Given the description of an element on the screen output the (x, y) to click on. 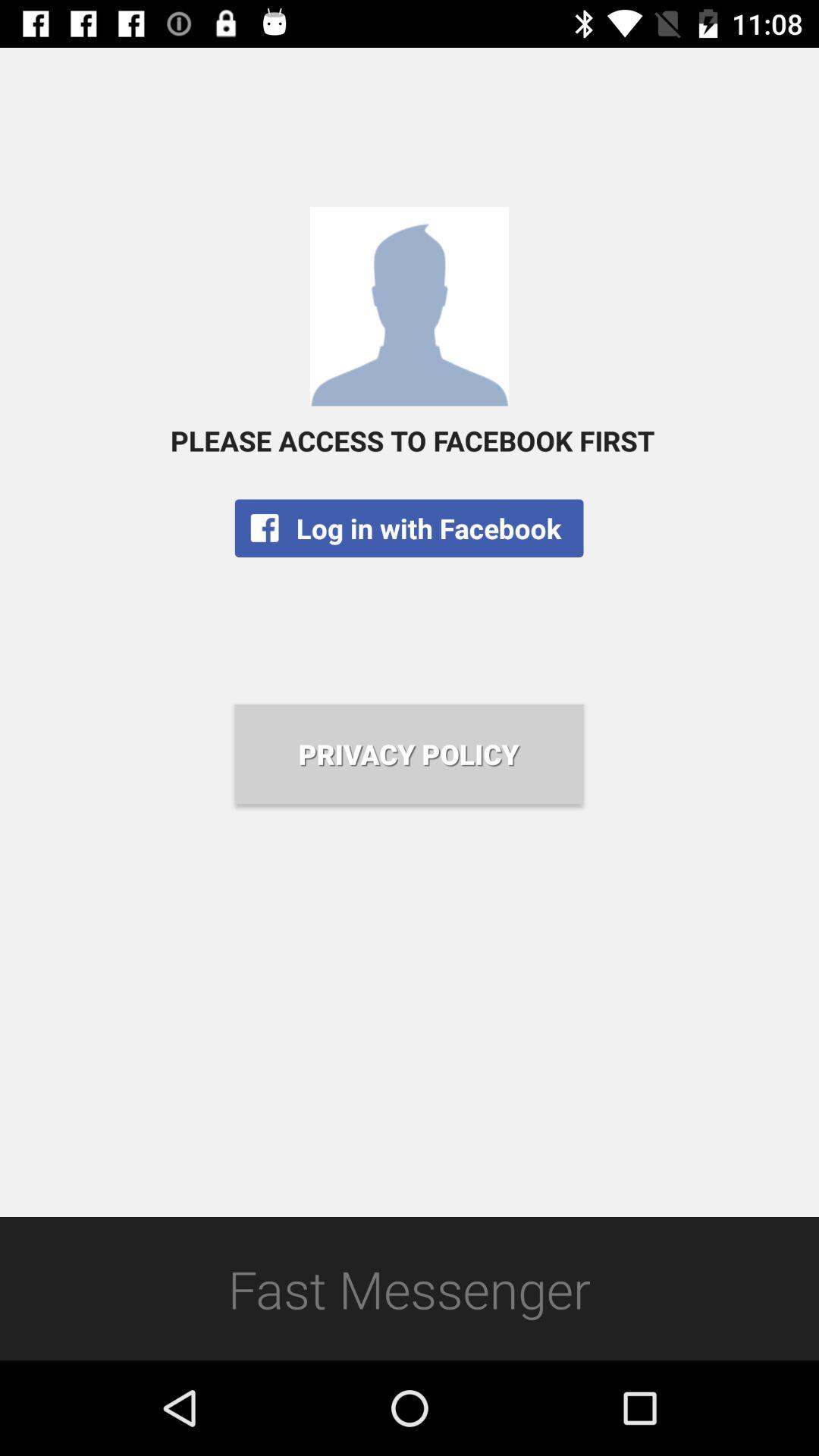
swipe until the privacy policy item (408, 754)
